Given the description of an element on the screen output the (x, y) to click on. 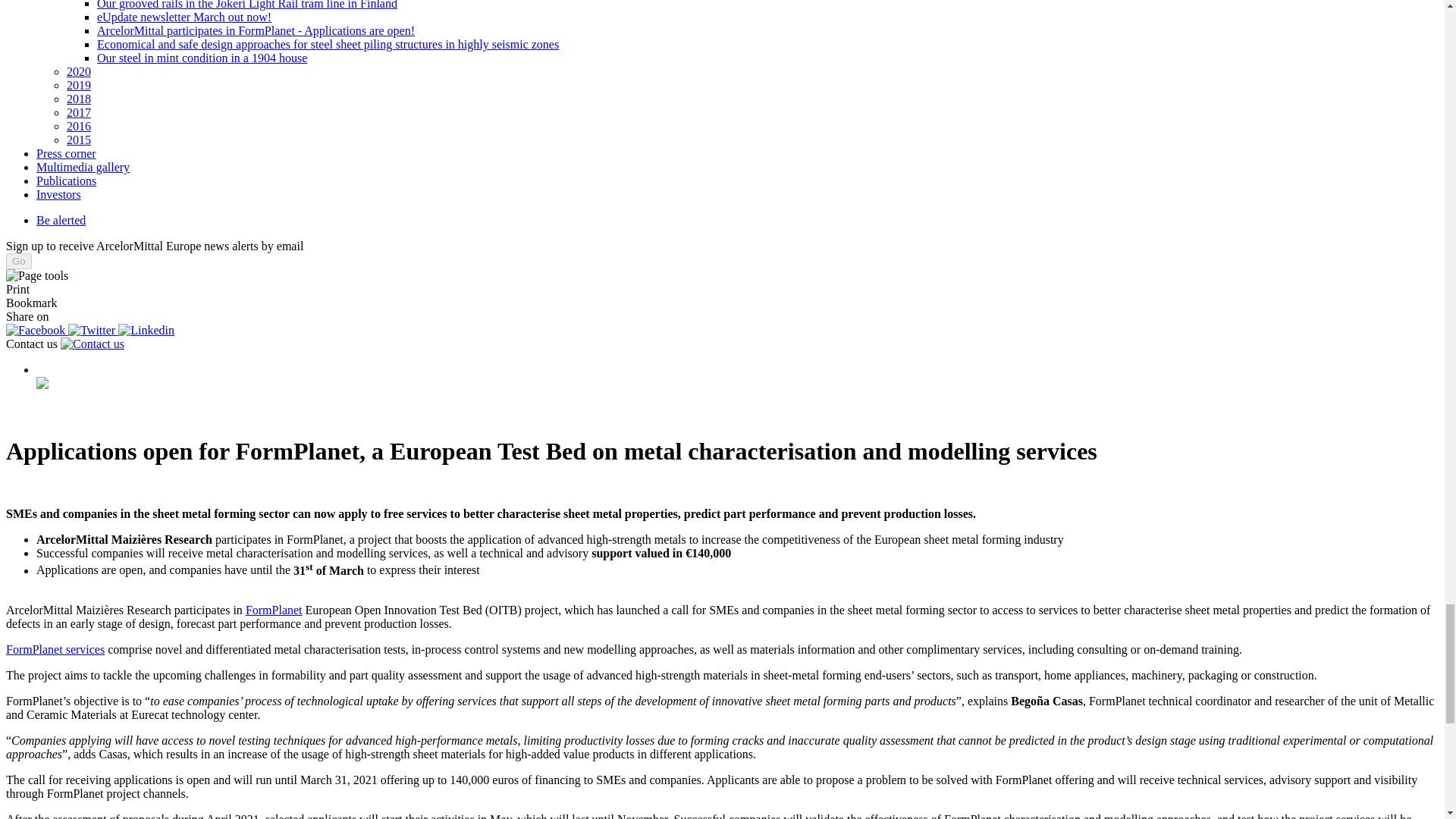
Go (18, 261)
